Given the description of an element on the screen output the (x, y) to click on. 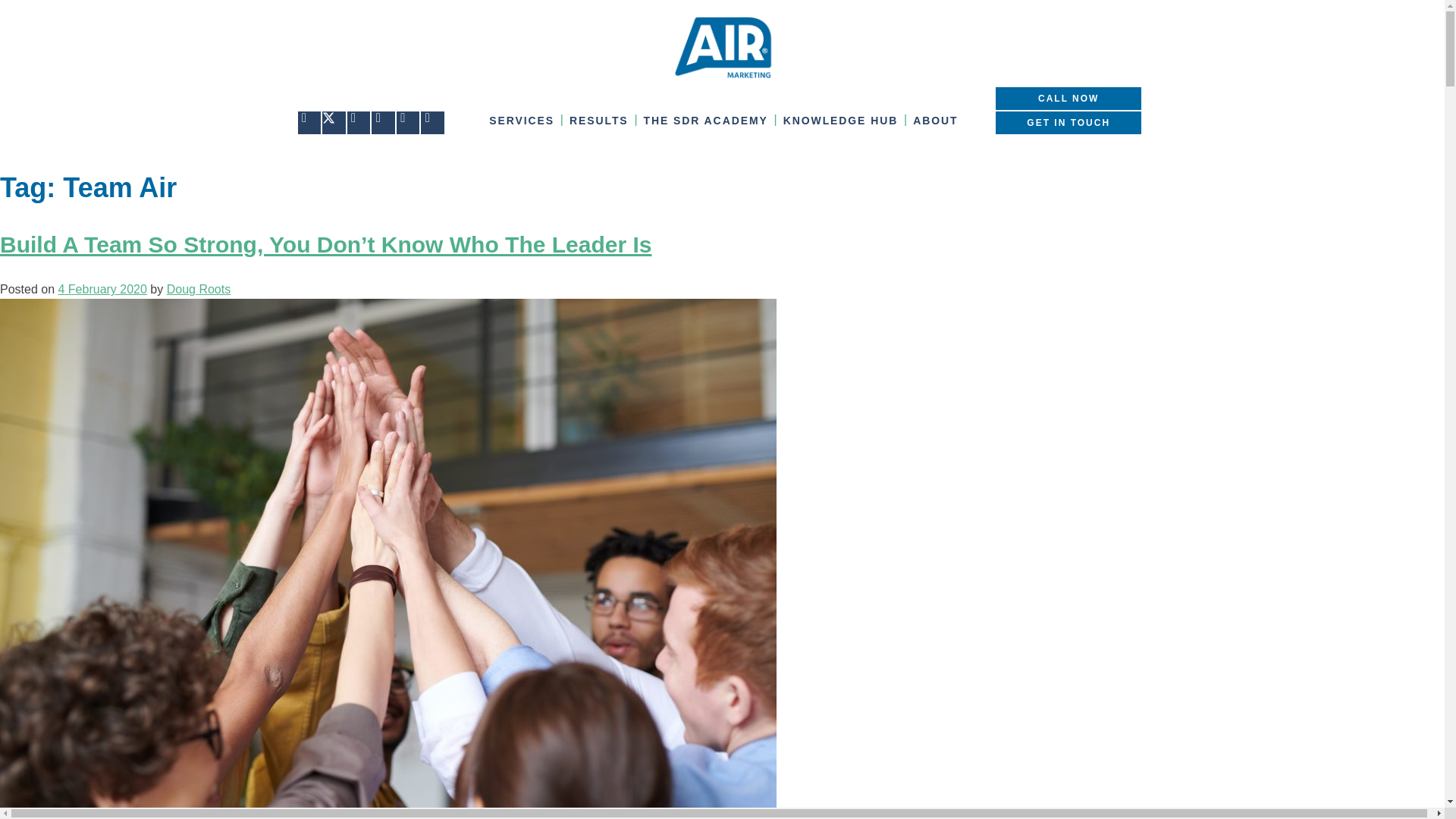
THE SDR ACADEMY (705, 120)
ABOUT (935, 120)
KNOWLEDGE HUB (840, 120)
RESULTS (598, 120)
SERVICES (521, 120)
